Given the description of an element on the screen output the (x, y) to click on. 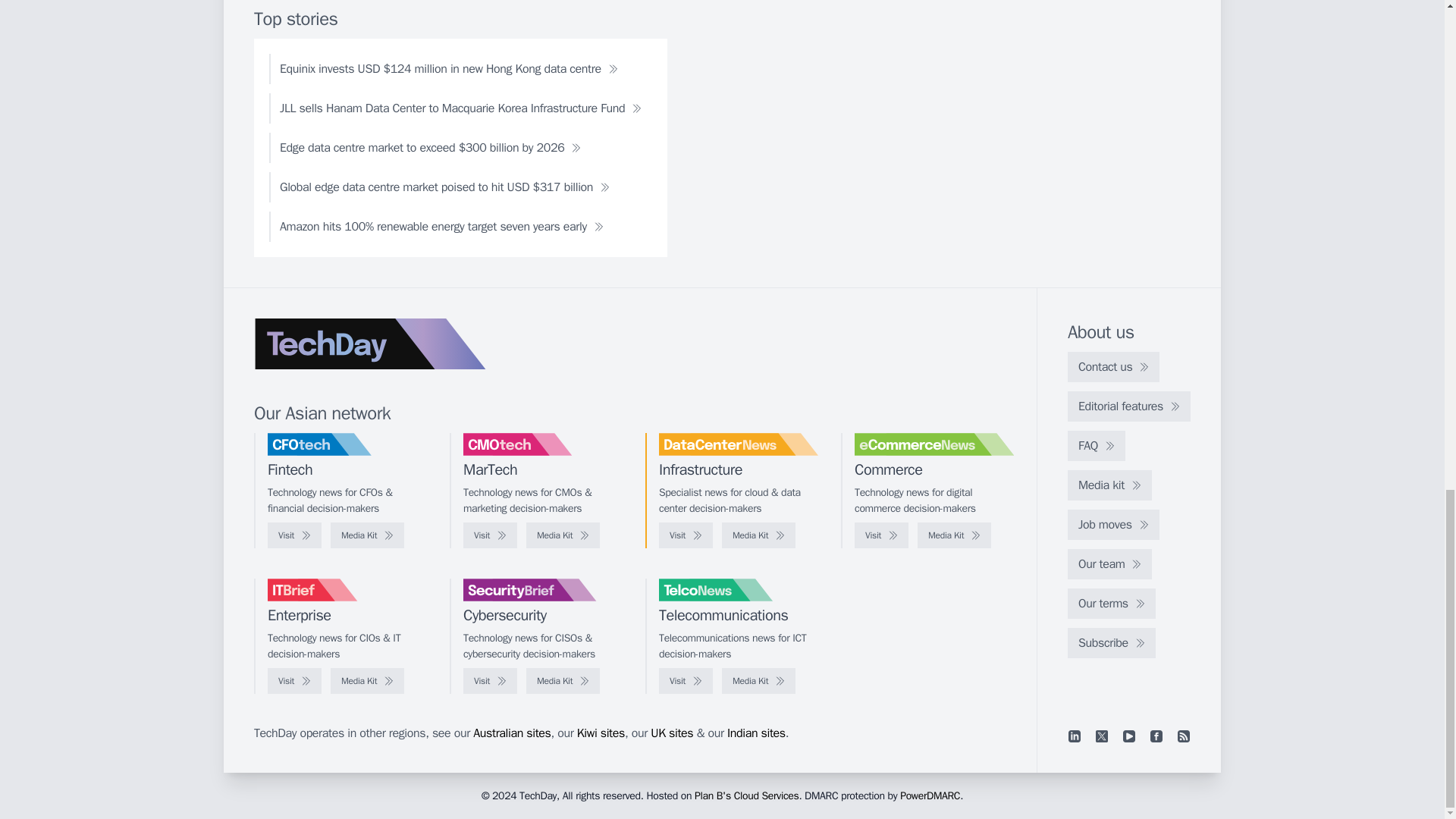
Media Kit (367, 534)
Visit (686, 534)
Visit (881, 534)
Visit (489, 534)
Media Kit (562, 534)
Visit (294, 534)
Media Kit (954, 534)
Media Kit (758, 534)
